Given the description of an element on the screen output the (x, y) to click on. 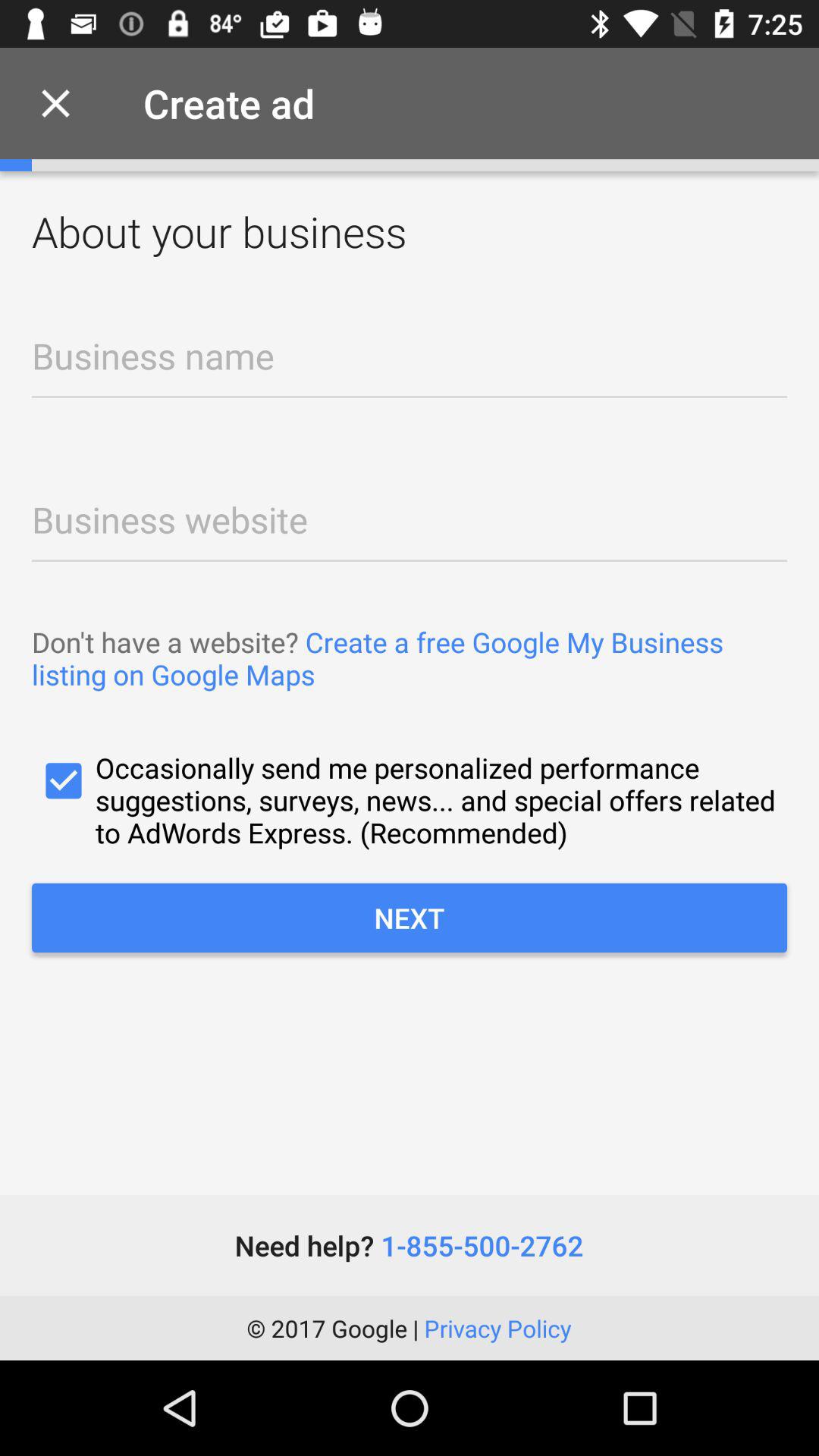
business name (409, 365)
